Given the description of an element on the screen output the (x, y) to click on. 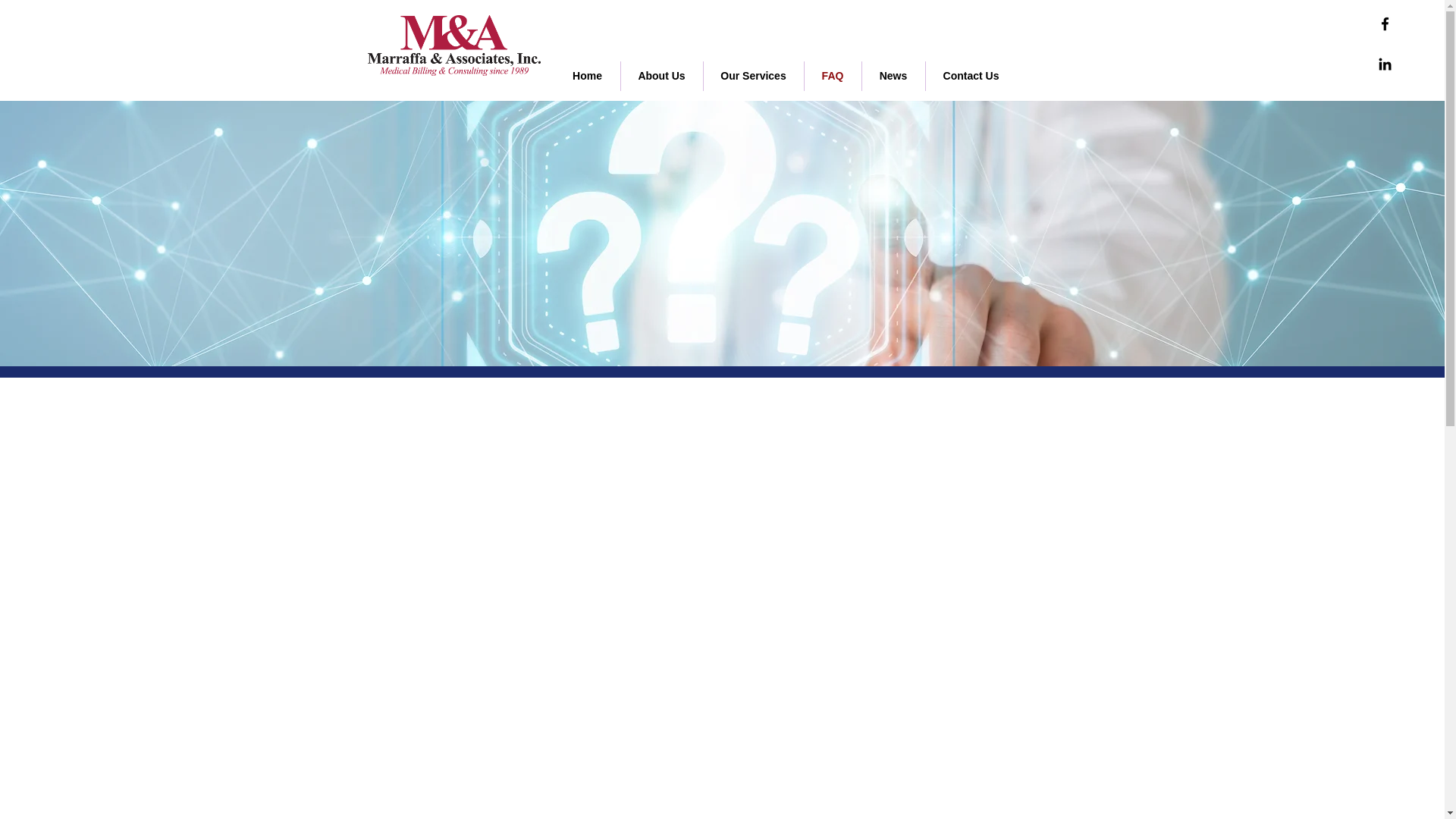
About Us (660, 75)
Contact Us (970, 75)
News (892, 75)
FAQ (831, 75)
Our Services (753, 75)
Home (587, 75)
